Given the description of an element on the screen output the (x, y) to click on. 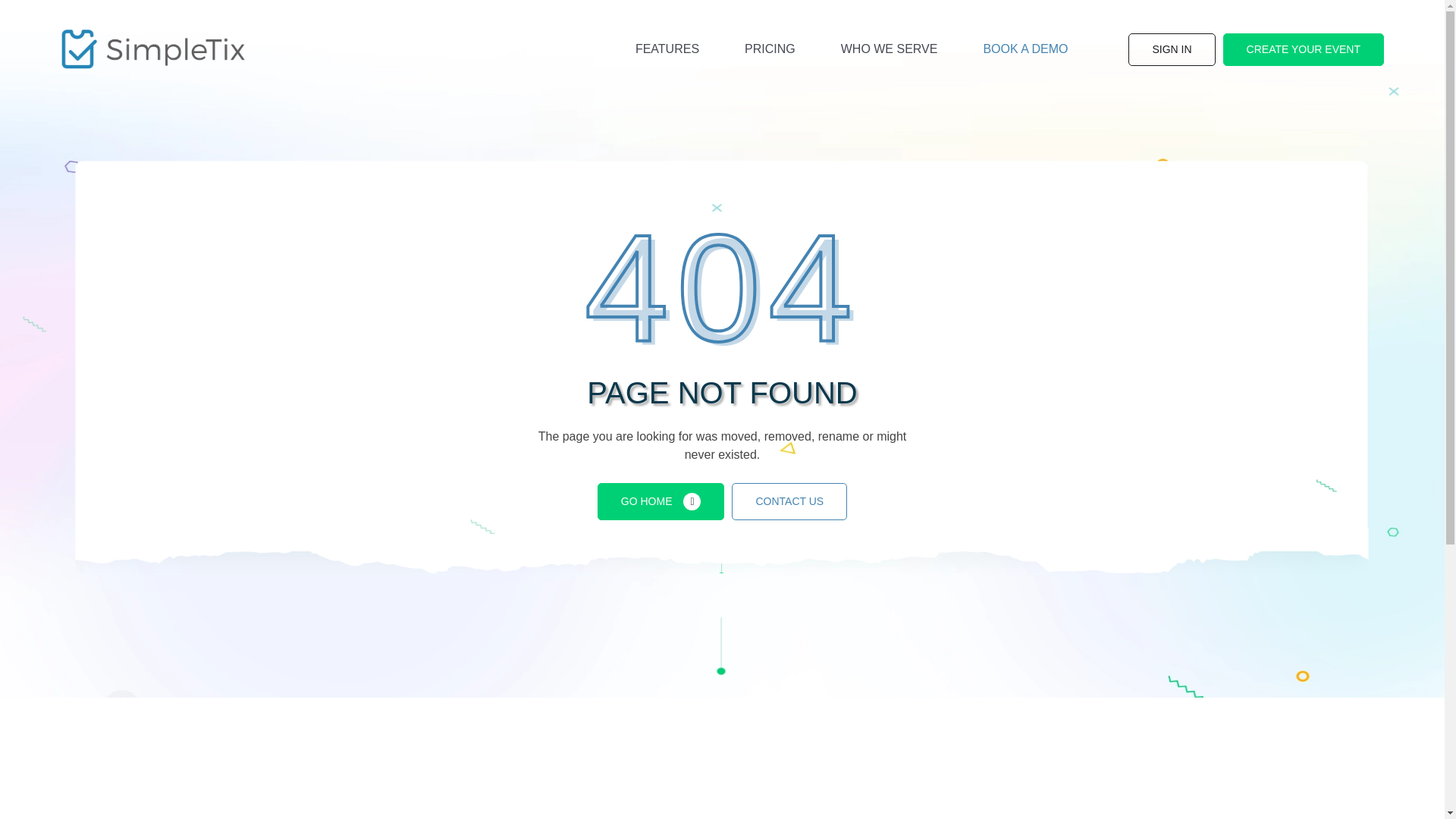
BOOK A DEMO (1024, 49)
FEATURES (667, 49)
CONTACT US (789, 501)
SIGN IN (1171, 49)
CREATE YOUR EVENT (1303, 49)
WHO WE SERVE (889, 49)
GO HOME (660, 501)
PRICING (770, 49)
